Given the description of an element on the screen output the (x, y) to click on. 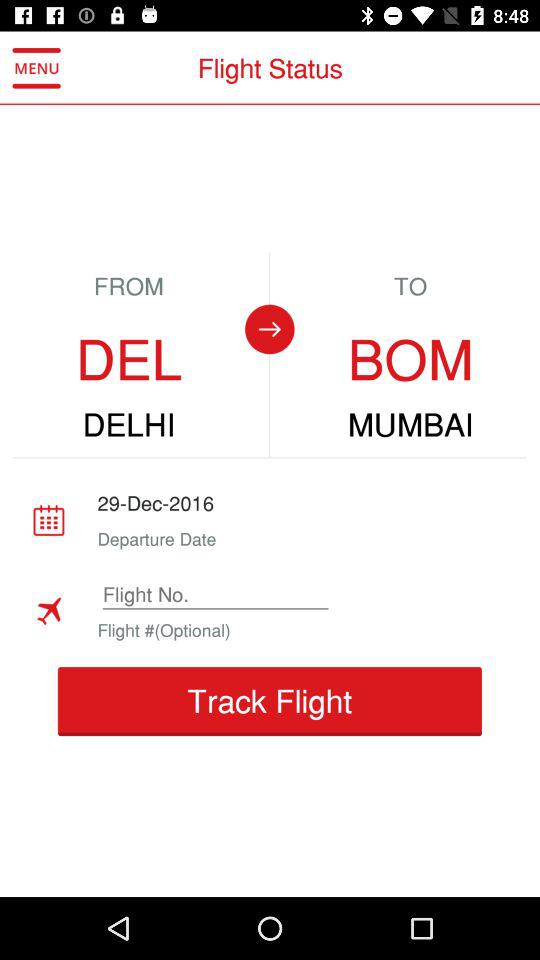
change destination (269, 329)
